Given the description of an element on the screen output the (x, y) to click on. 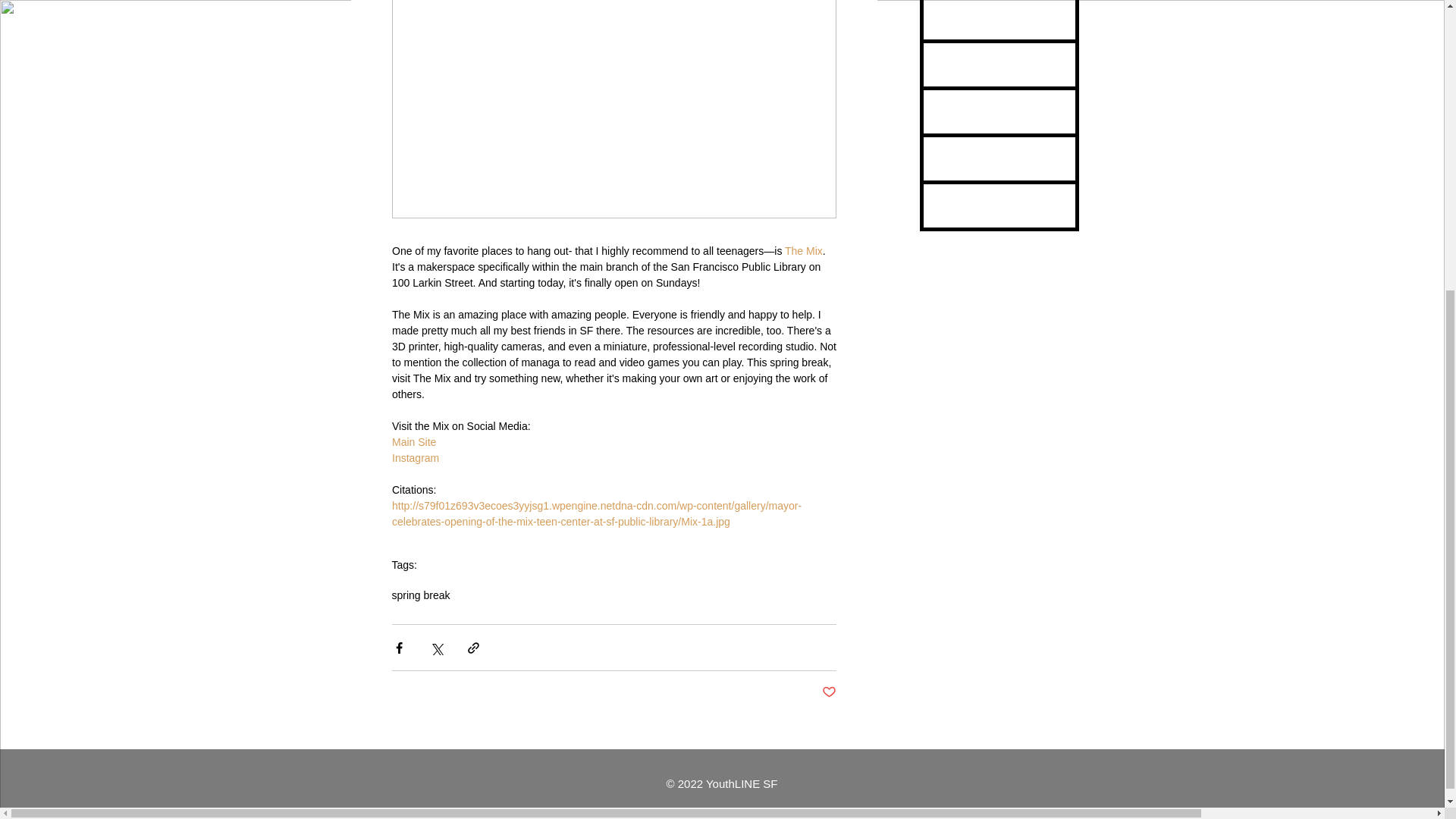
Post not marked as liked (828, 692)
The Mix (803, 250)
Instagram (414, 458)
spring break (420, 594)
Main Site (413, 441)
Lights, Camera, ACTION! (997, 72)
